Given the description of an element on the screen output the (x, y) to click on. 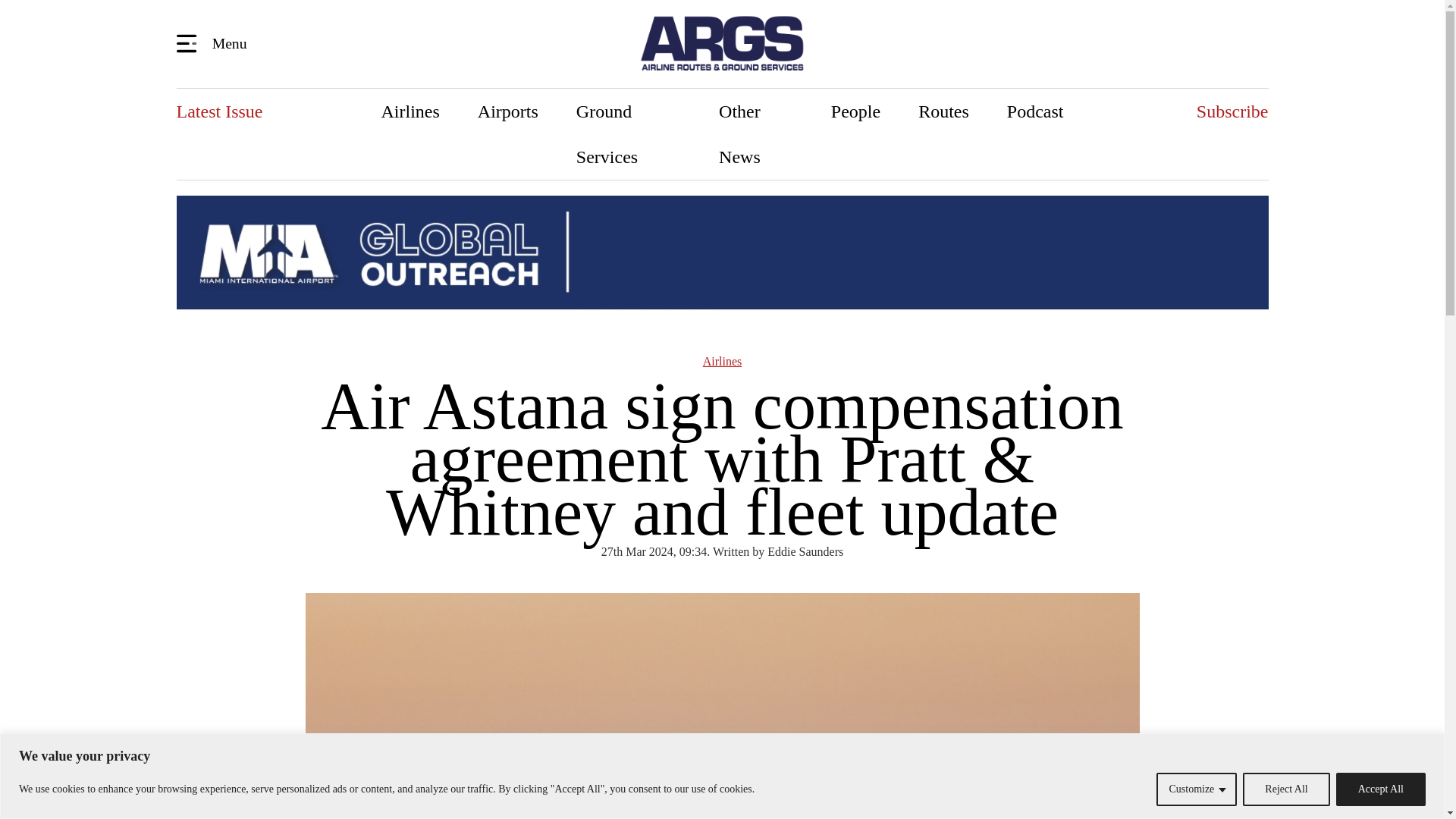
Ground Services (628, 133)
Routes (943, 111)
Other News (756, 133)
Menu (213, 42)
Airports (507, 111)
Airlines (410, 111)
People (855, 111)
Customize (1196, 788)
Latest Issue (219, 111)
Reject All (1286, 788)
